Given the description of an element on the screen output the (x, y) to click on. 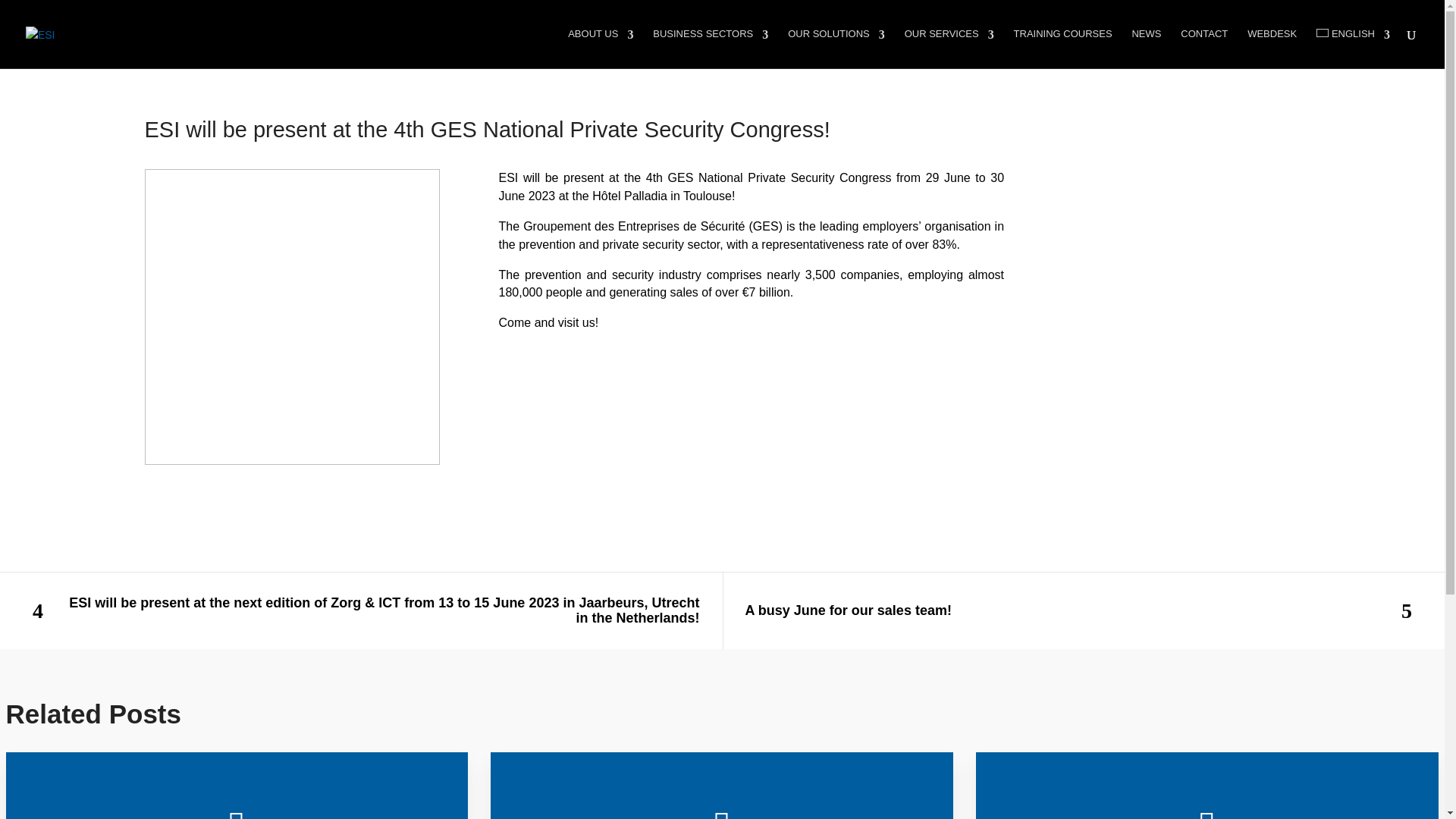
OUR SERVICES (949, 47)
WEBDESK (1272, 47)
ABOUT US (600, 47)
OUR SOLUTIONS (836, 47)
TRAINING COURSES (1062, 47)
BUSINESS SECTORS (710, 47)
A busy June for our sales team! (1083, 610)
CONTACT (1203, 47)
ENGLISH (1353, 47)
